Given the description of an element on the screen output the (x, y) to click on. 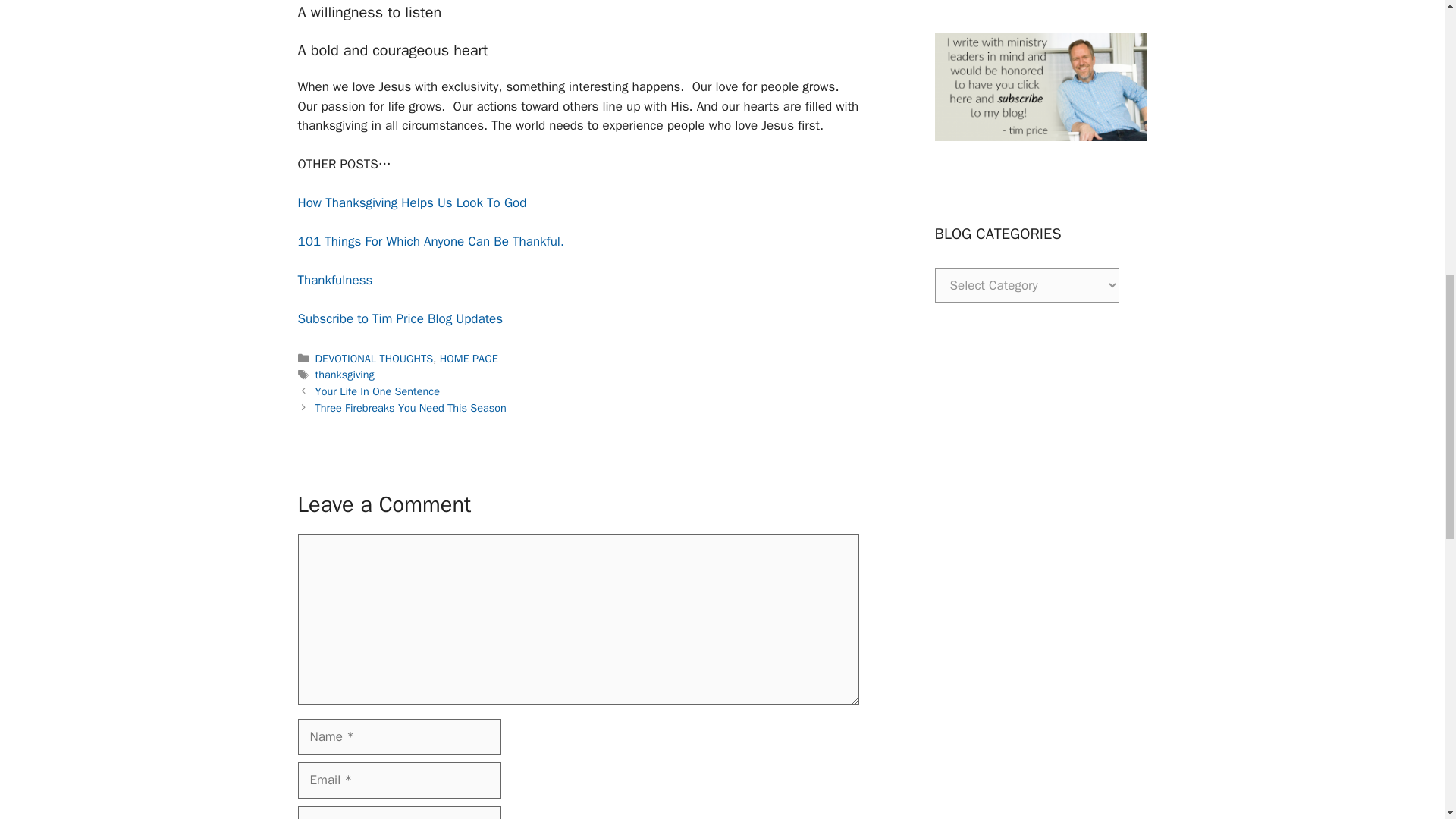
101 Things For Which Anyone Can Be Thankful. (430, 241)
DEVOTIONAL THOUGHTS (374, 358)
thanksgiving (344, 374)
Your Life In One Sentence (377, 391)
Subscribe to Tim Price Blog Updates (399, 318)
Thankfulness (334, 279)
Three Firebreaks You Need This Season (410, 407)
HOME PAGE (468, 358)
How Thanksgiving Helps Us Look To God (411, 202)
